Given the description of an element on the screen output the (x, y) to click on. 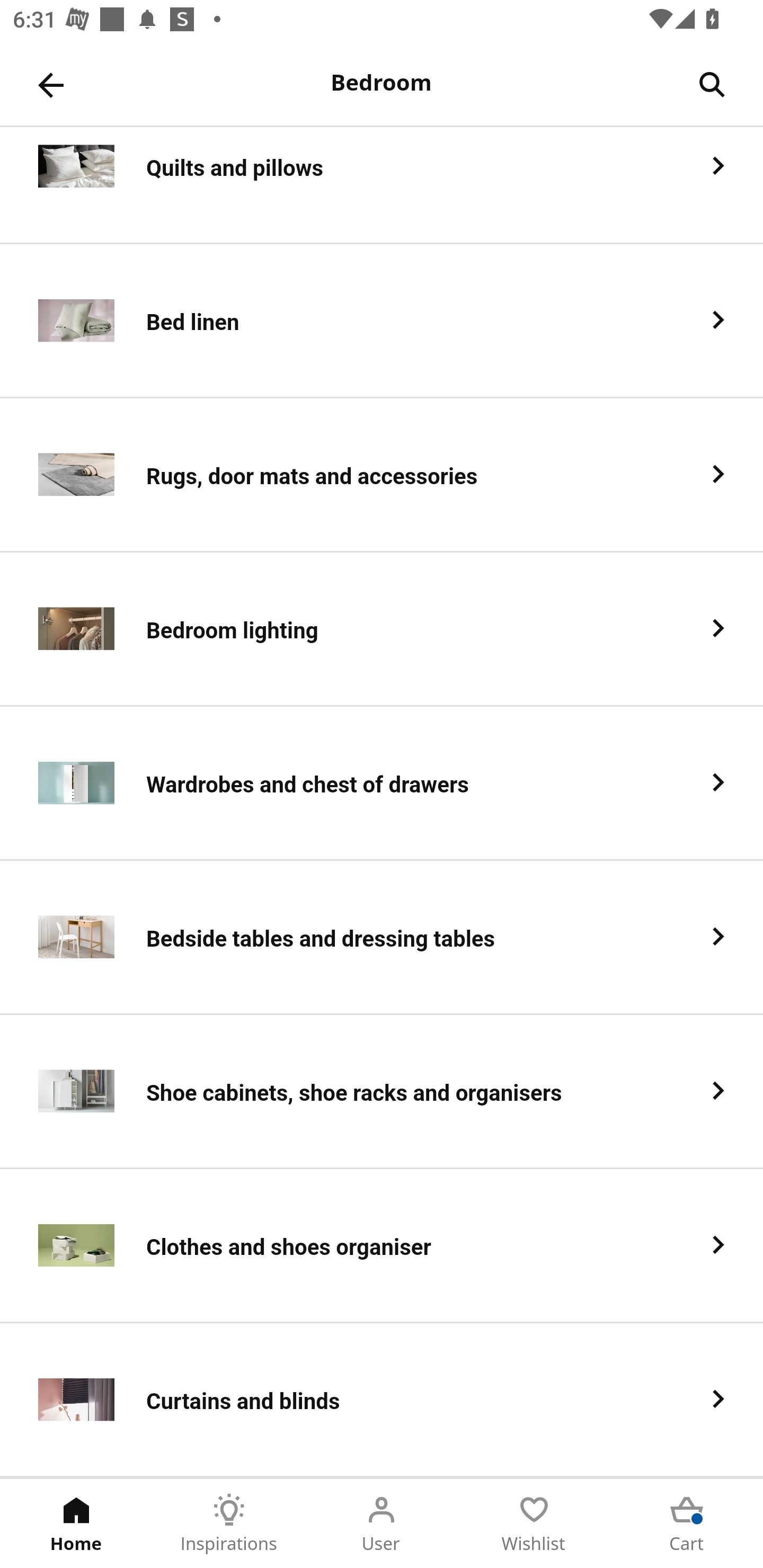
Quilts and pillows (381, 185)
Bed linen (381, 321)
Rugs, door mats and accessories (381, 474)
Bedroom lighting (381, 629)
Wardrobes and chest of drawers (381, 783)
Bedside tables and dressing tables (381, 937)
Shoe cabinets, shoe racks and organisers (381, 1091)
Clothes and shoes organiser (381, 1246)
Curtains and blinds (381, 1400)
Home
Tab 1 of 5 (76, 1522)
Inspirations
Tab 2 of 5 (228, 1522)
User
Tab 3 of 5 (381, 1522)
Wishlist
Tab 4 of 5 (533, 1522)
Cart
Tab 5 of 5 (686, 1522)
